Given the description of an element on the screen output the (x, y) to click on. 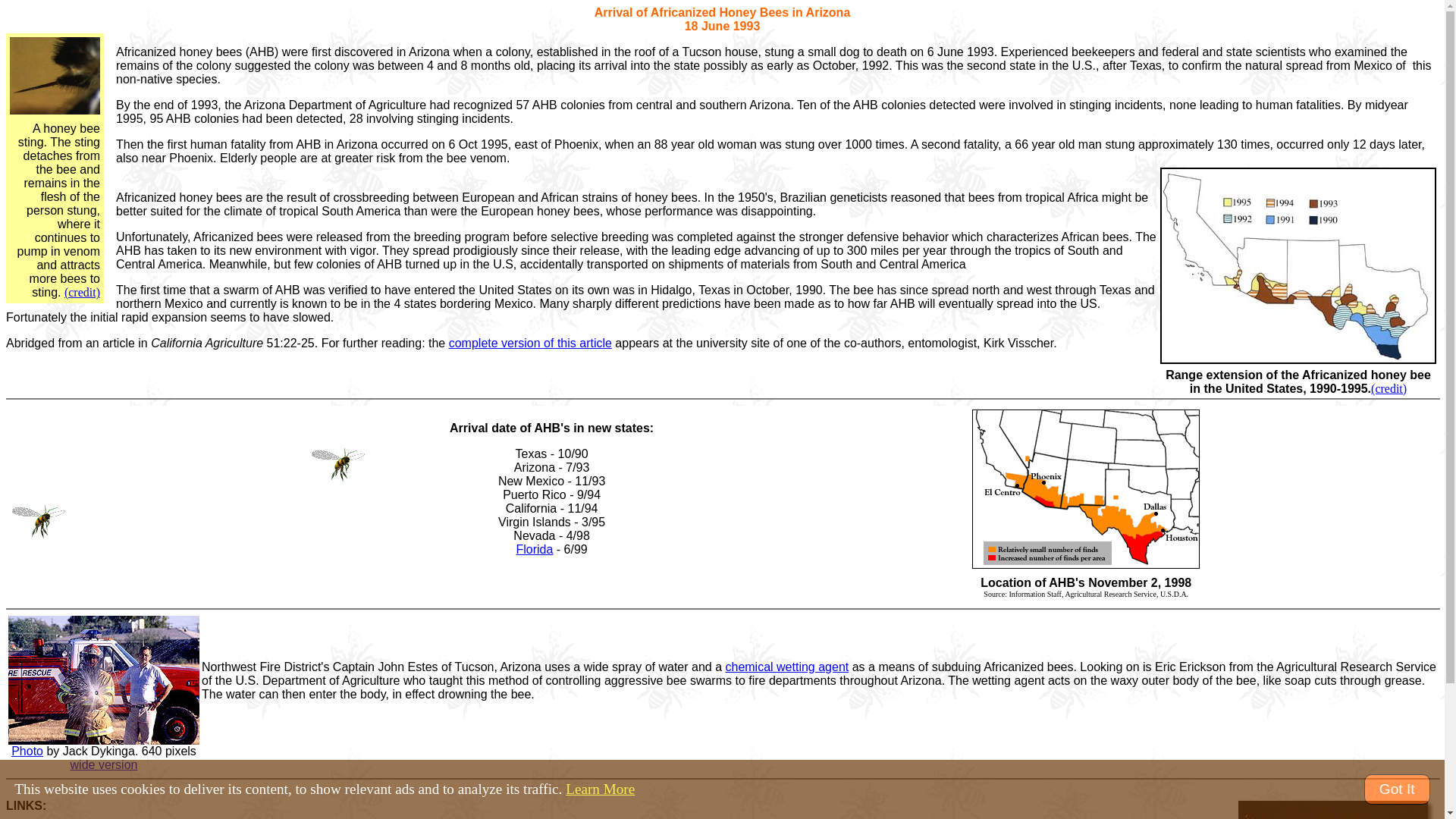
chemical wetting agent (786, 666)
Florida (534, 549)
complete version of this article (529, 342)
Photo (27, 750)
wide version (103, 764)
Learn More (600, 788)
Got It (1396, 788)
Learn More (600, 788)
